Given the description of an element on the screen output the (x, y) to click on. 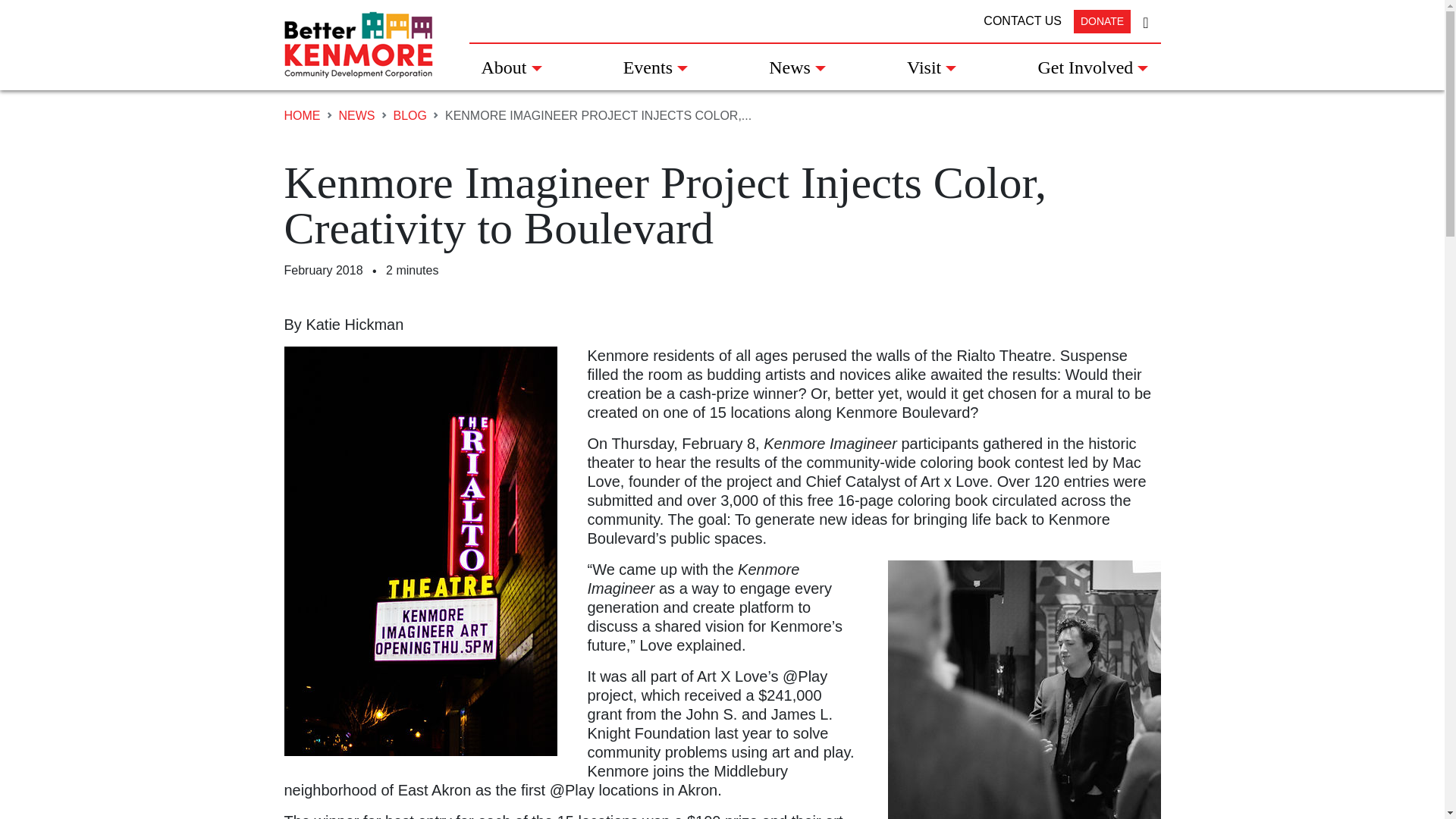
Get Involved (1092, 67)
CONTACT US (1022, 21)
DONATE (1102, 20)
About (510, 67)
Events (655, 67)
Visit (931, 67)
News (797, 67)
